Given the description of an element on the screen output the (x, y) to click on. 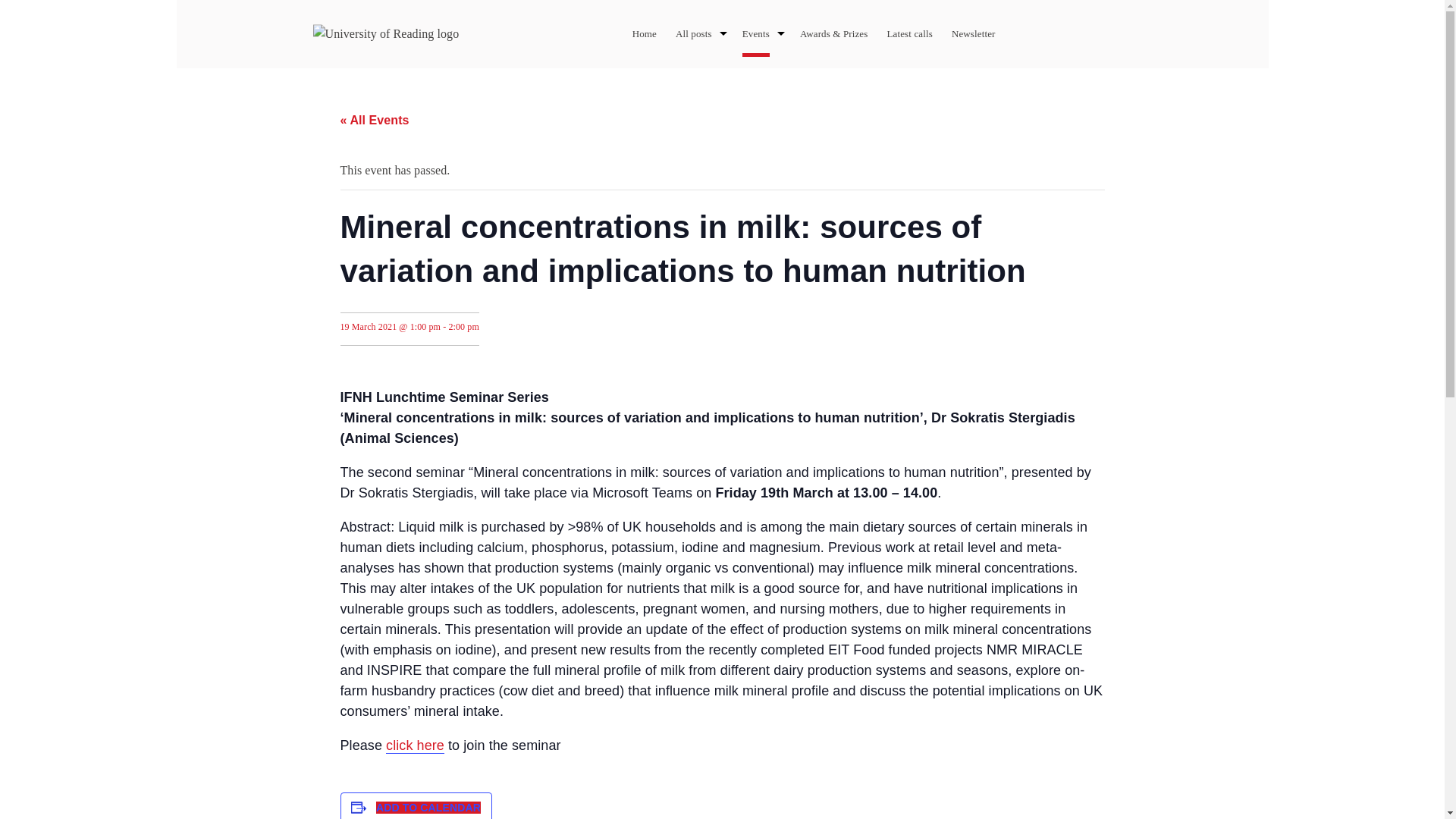
Latest calls (908, 33)
click here (414, 745)
Home (643, 33)
Events (756, 33)
All posts (693, 33)
ADD TO CALENDAR (427, 807)
Newsletter (973, 33)
